Given the description of an element on the screen output the (x, y) to click on. 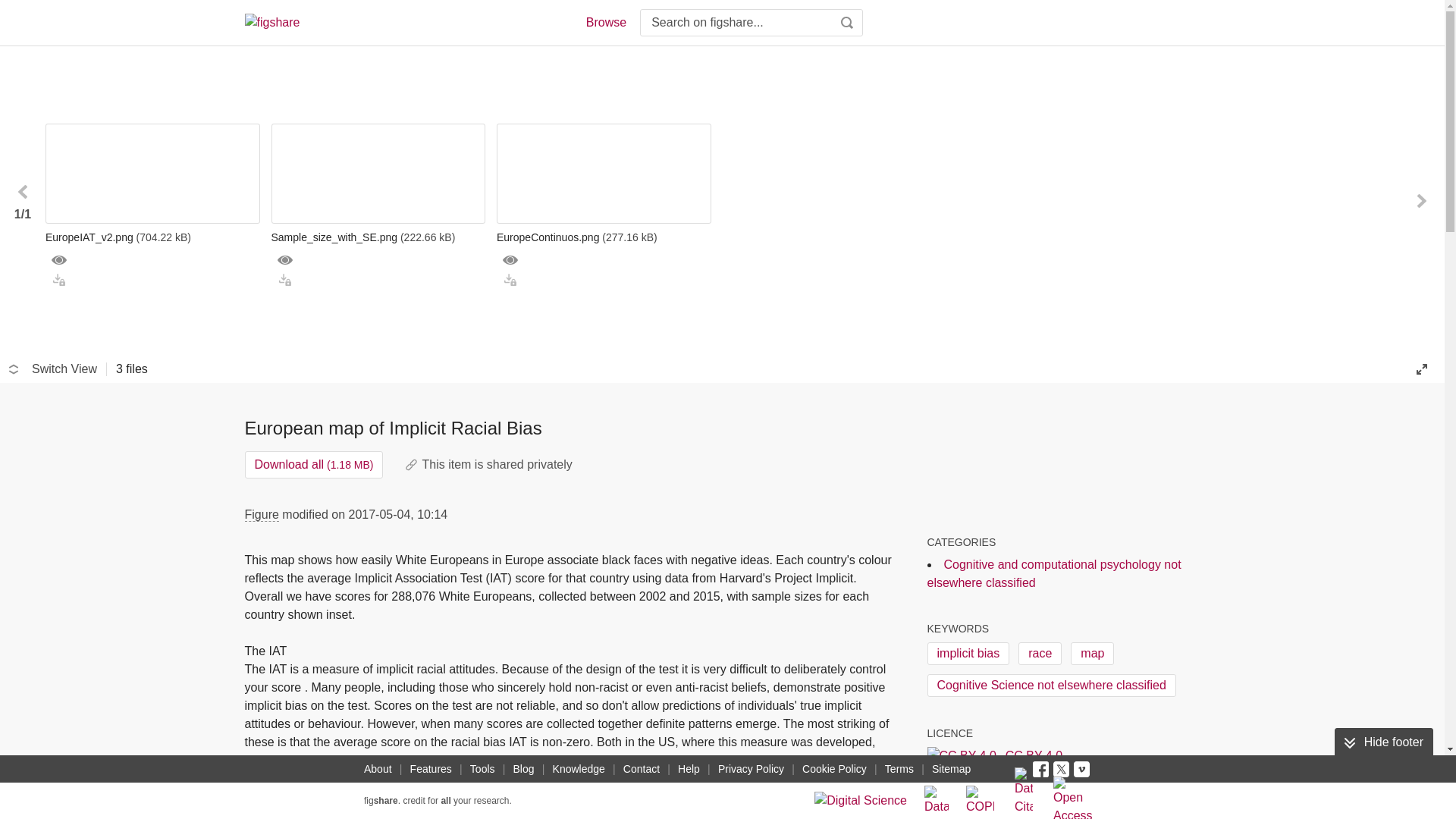
DataCite (936, 800)
race (1039, 653)
Browse (605, 22)
Switch View (52, 369)
implicit bias (967, 653)
COPE (980, 800)
EuropeContinuos.png (603, 237)
Digital Science (860, 800)
